Given the description of an element on the screen output the (x, y) to click on. 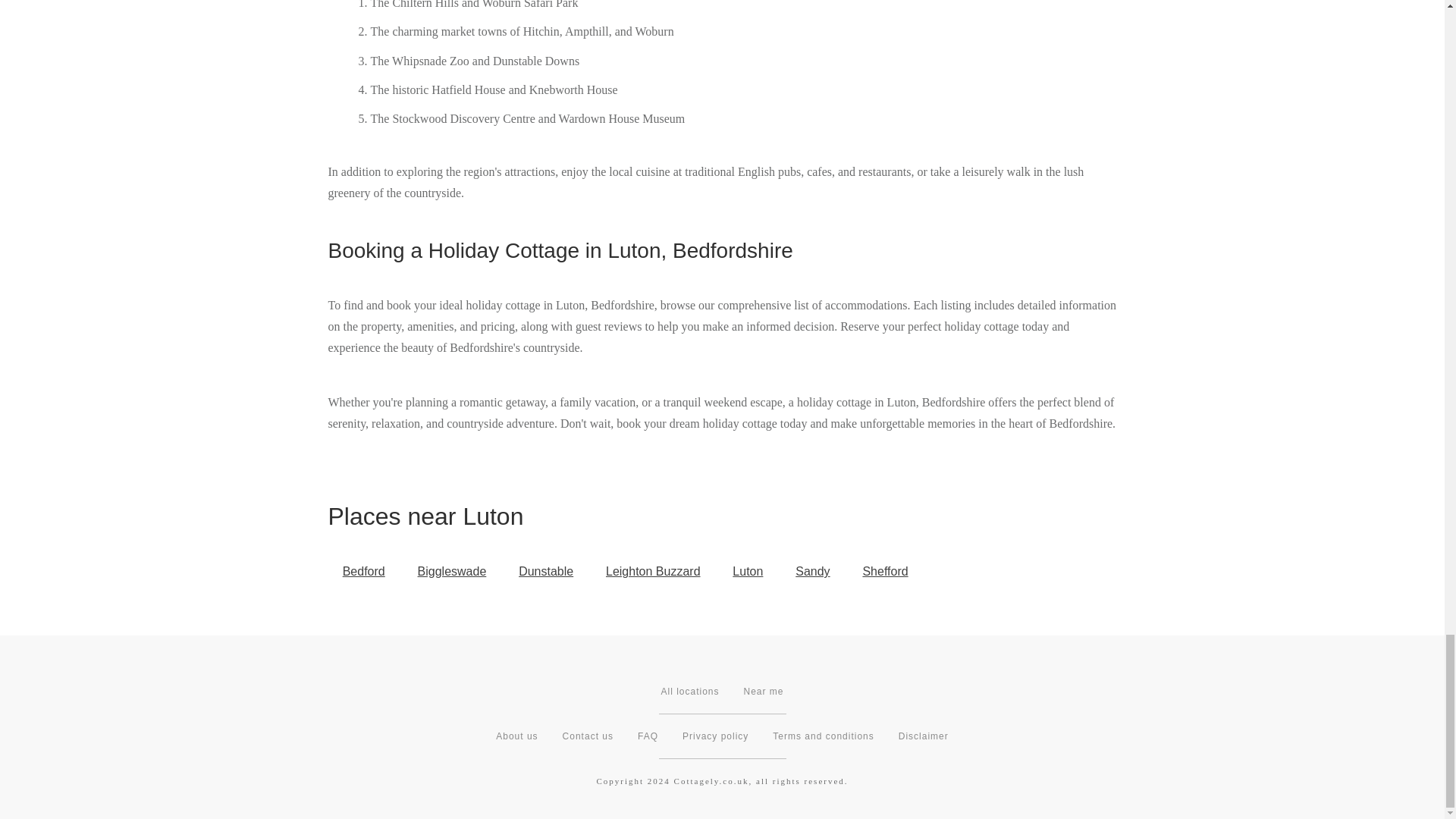
About us (516, 736)
Biggleswade (451, 571)
Contact us (587, 736)
Privacy policy (715, 736)
FAQ (647, 736)
Bedford (362, 571)
Leighton Buzzard (652, 571)
Near me (762, 691)
Shefford (885, 571)
All locations (690, 691)
Dunstable (545, 571)
Sandy (812, 571)
Luton (747, 571)
